Given the description of an element on the screen output the (x, y) to click on. 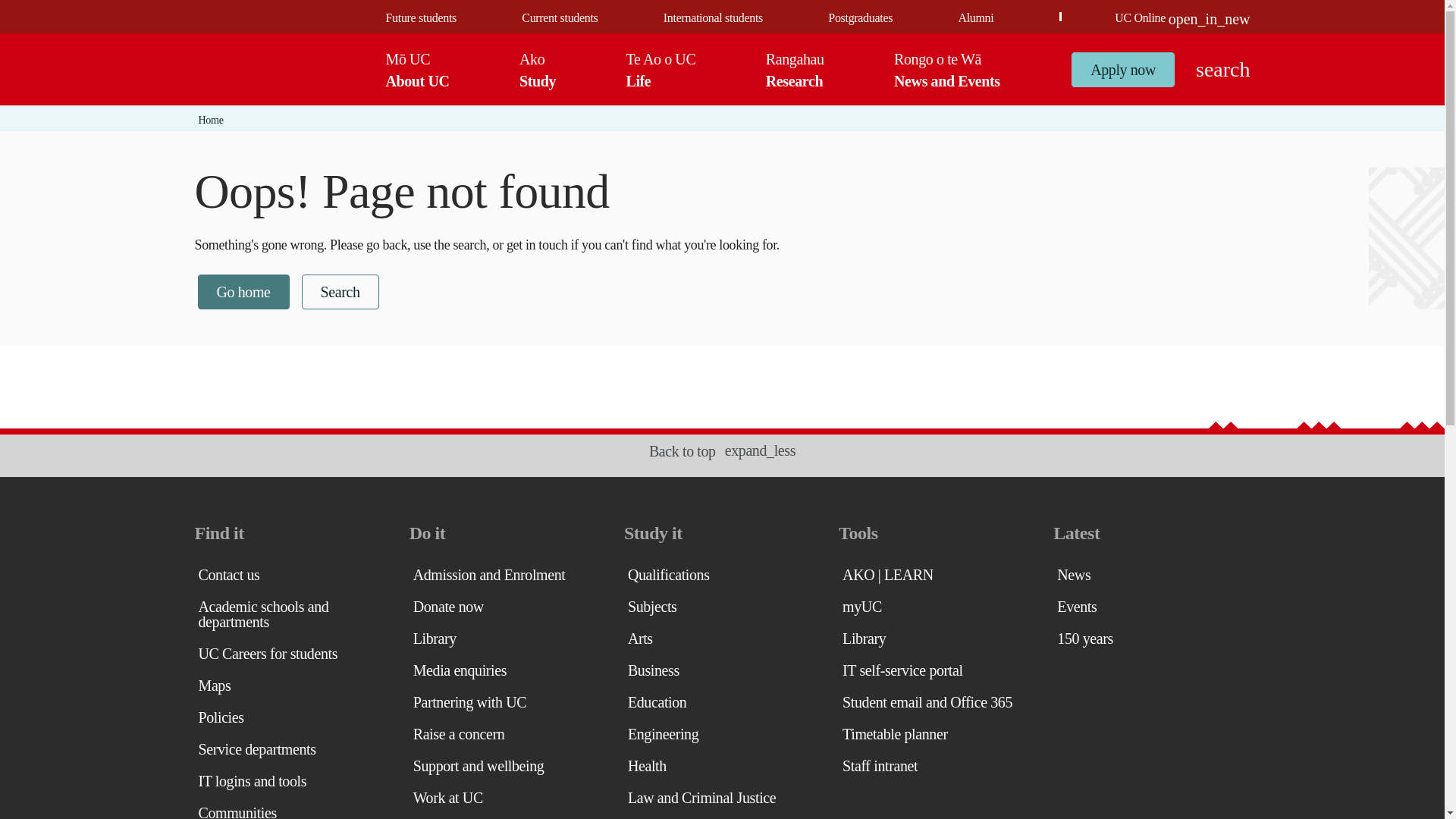
Postgraduates (860, 17)
Alumni (975, 17)
Future students (420, 17)
International students (712, 17)
Current students (558, 17)
